Given the description of an element on the screen output the (x, y) to click on. 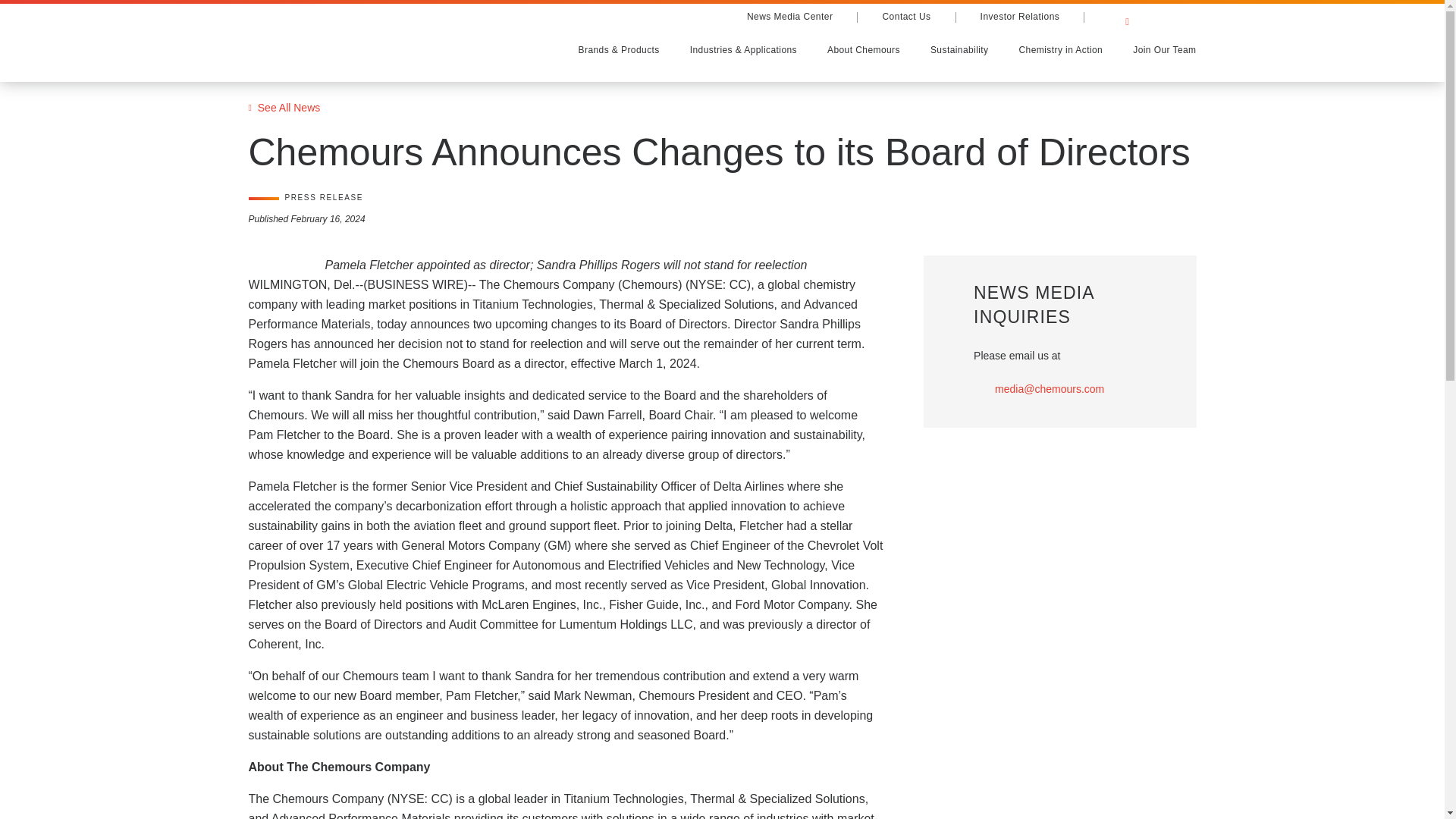
About Chemours (863, 49)
Header Logo (320, 39)
Investor Relations (1020, 17)
Toggle Search (1190, 18)
Contact Us (906, 17)
News Media Center (790, 17)
